Given the description of an element on the screen output the (x, y) to click on. 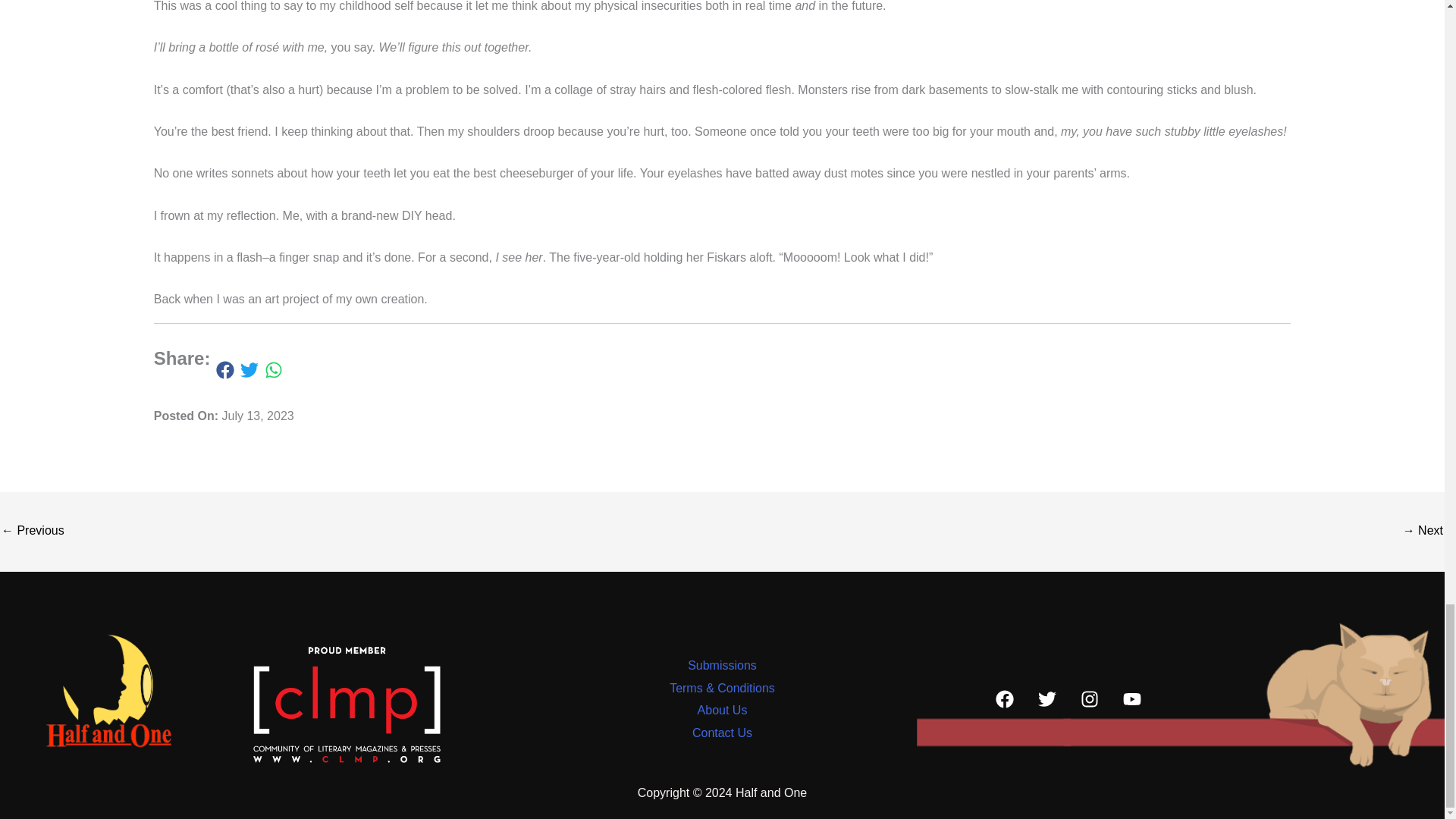
The Moricide Machine (32, 531)
Bridge Out (1422, 531)
